Given the description of an element on the screen output the (x, y) to click on. 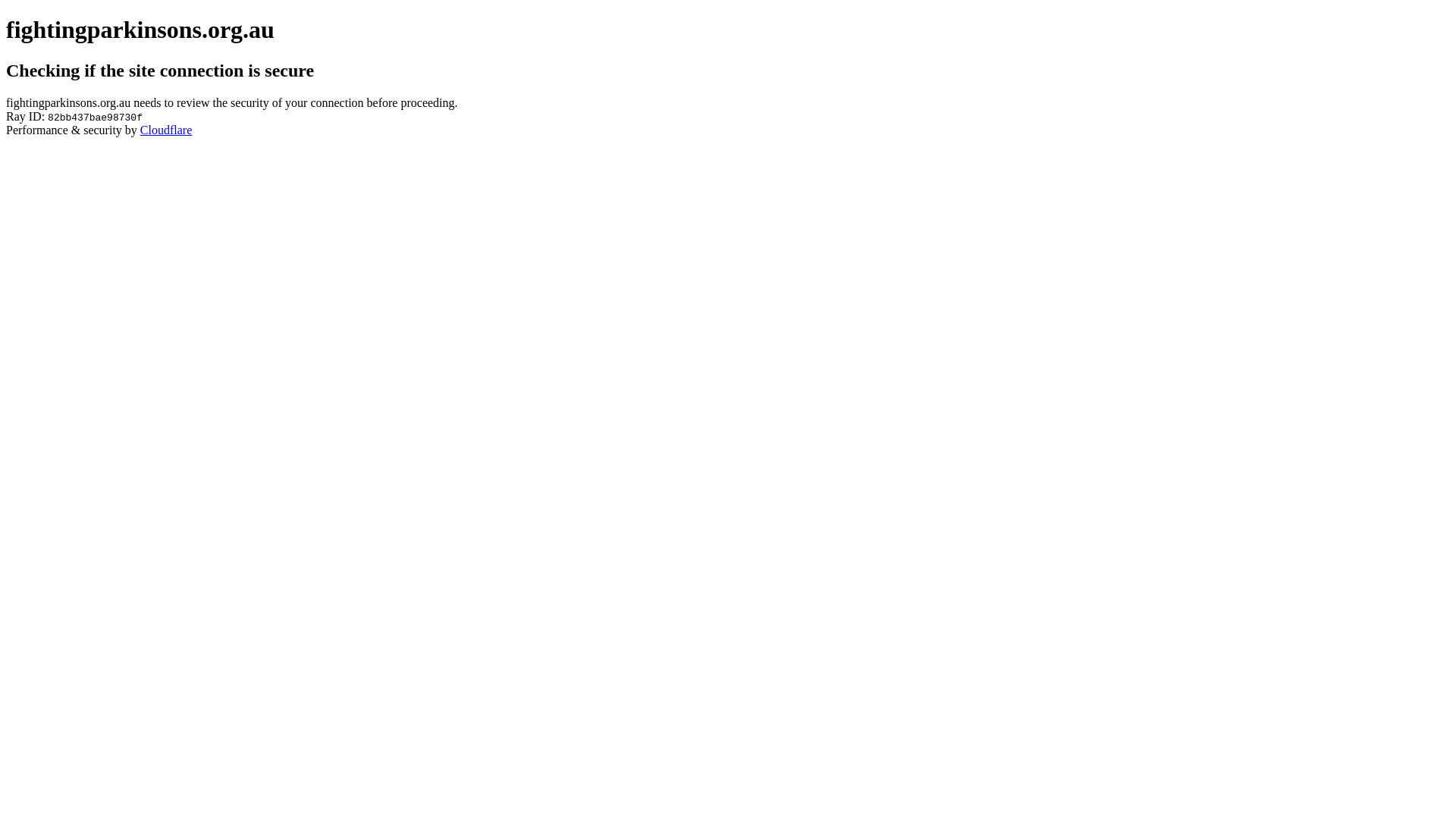
Cloudflare Element type: text (165, 129)
